Given the description of an element on the screen output the (x, y) to click on. 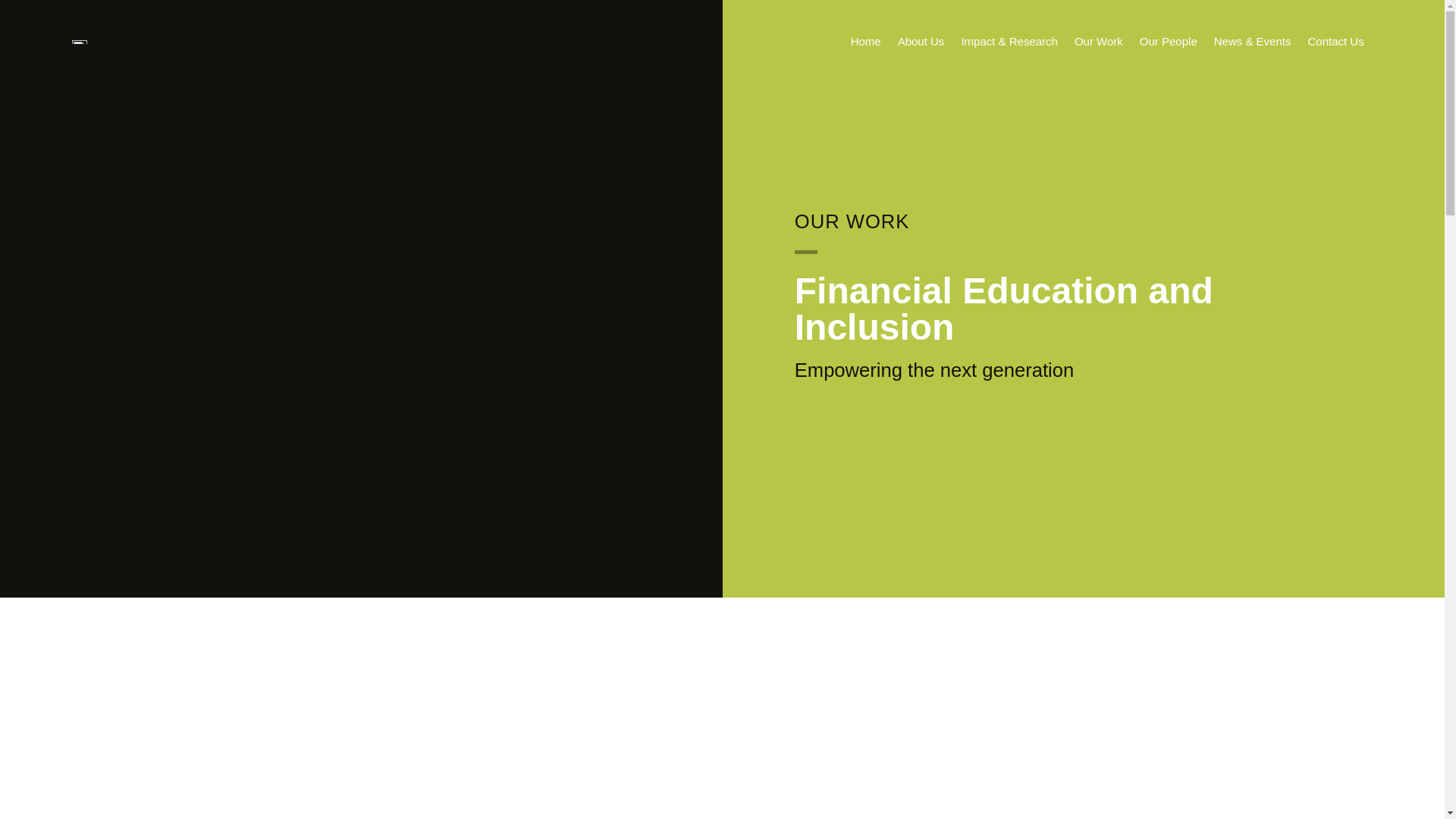
Contact Us (1334, 41)
About Us (921, 41)
Home (866, 41)
Our Work (1098, 41)
Our People (1168, 41)
